Given the description of an element on the screen output the (x, y) to click on. 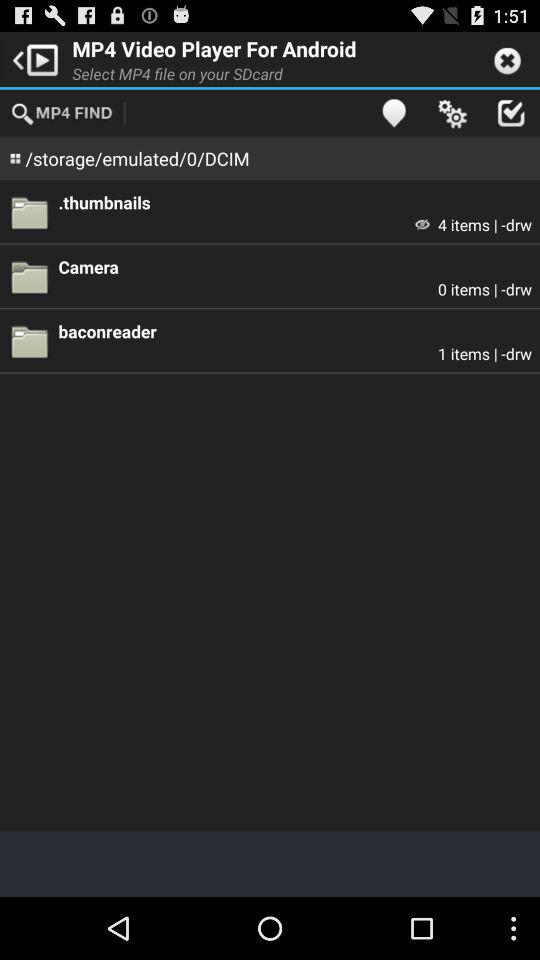
turn on item to the right of select mp4 file icon (393, 112)
